Given the description of an element on the screen output the (x, y) to click on. 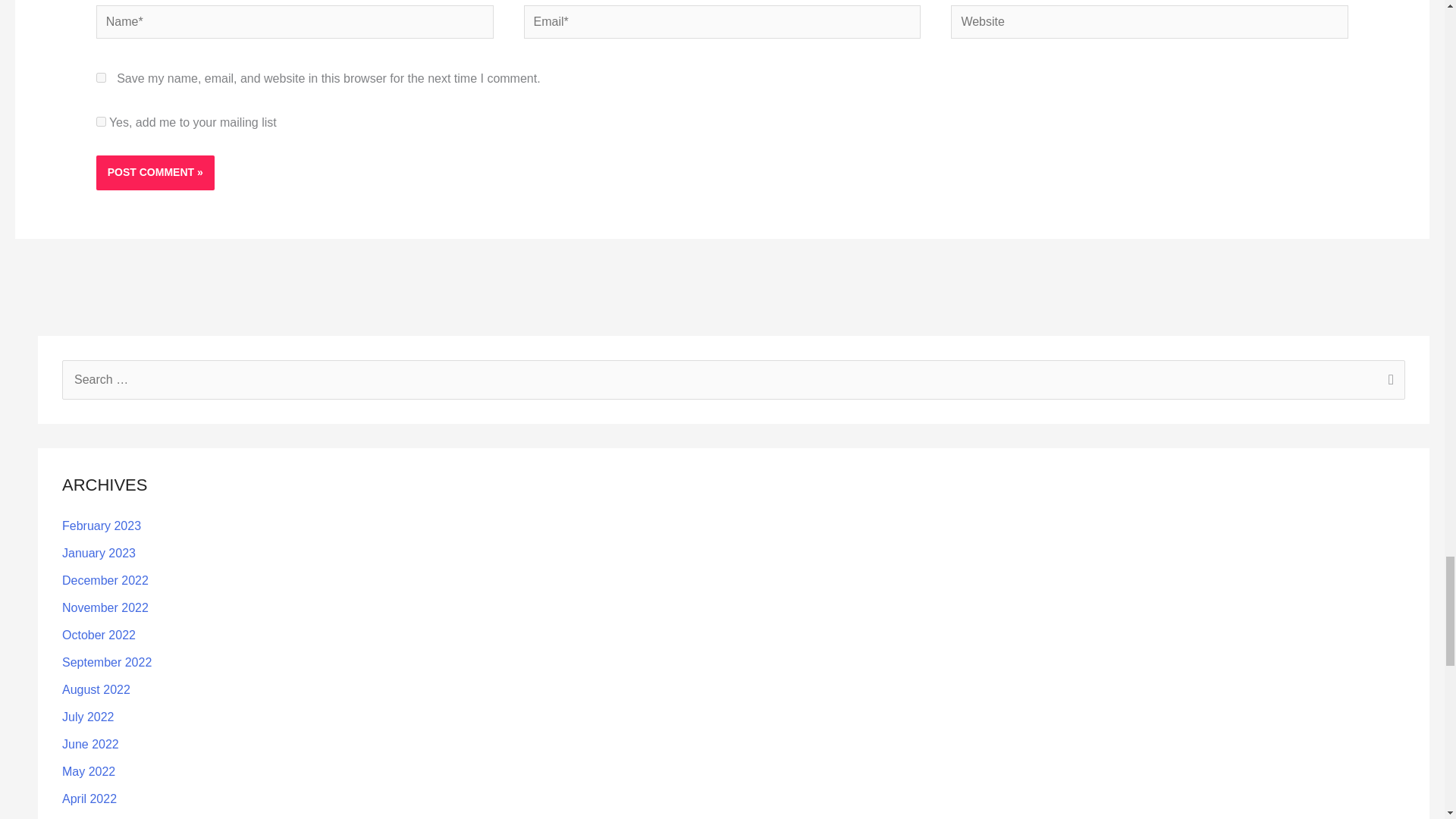
December 2022 (105, 580)
yes (101, 77)
June 2022 (90, 744)
May 2022 (88, 771)
September 2022 (106, 662)
August 2022 (96, 689)
October 2022 (98, 634)
February 2023 (101, 525)
July 2022 (88, 716)
November 2022 (105, 607)
